Given the description of an element on the screen output the (x, y) to click on. 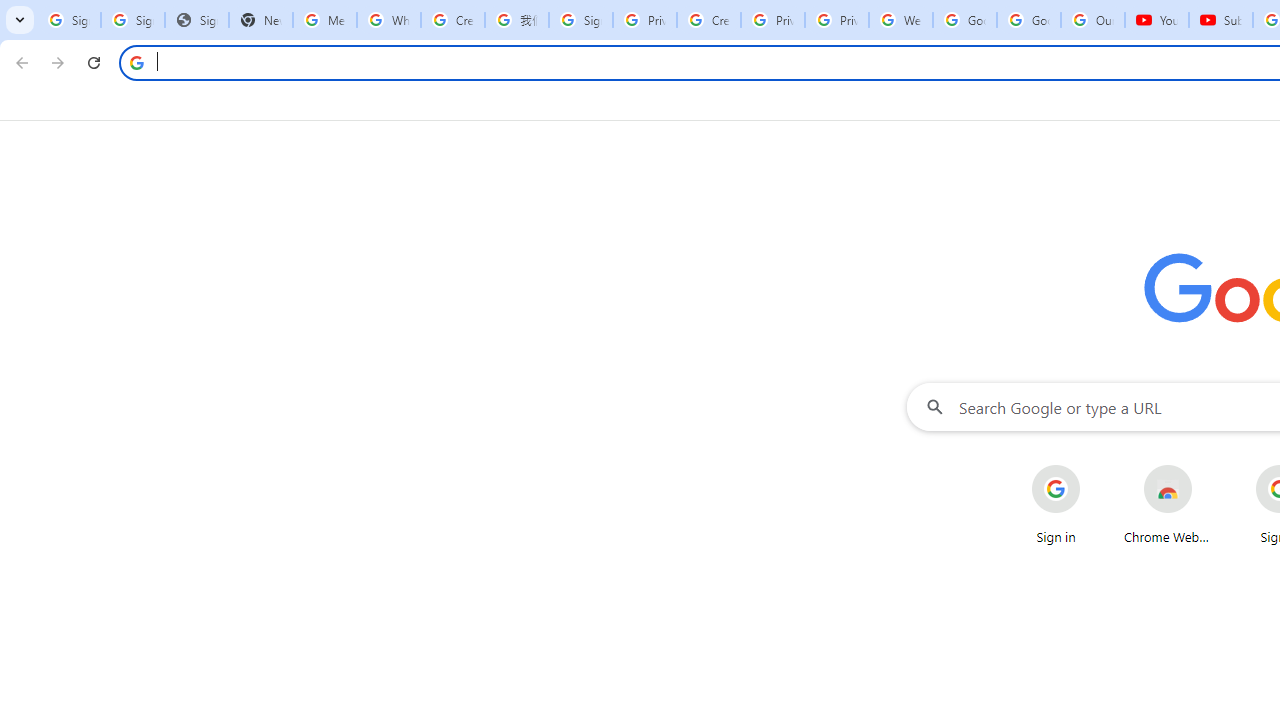
New Tab (261, 20)
Chrome Web Store (1167, 504)
More actions for Chrome Web Store shortcut (1208, 466)
YouTube (1157, 20)
